Given the description of an element on the screen output the (x, y) to click on. 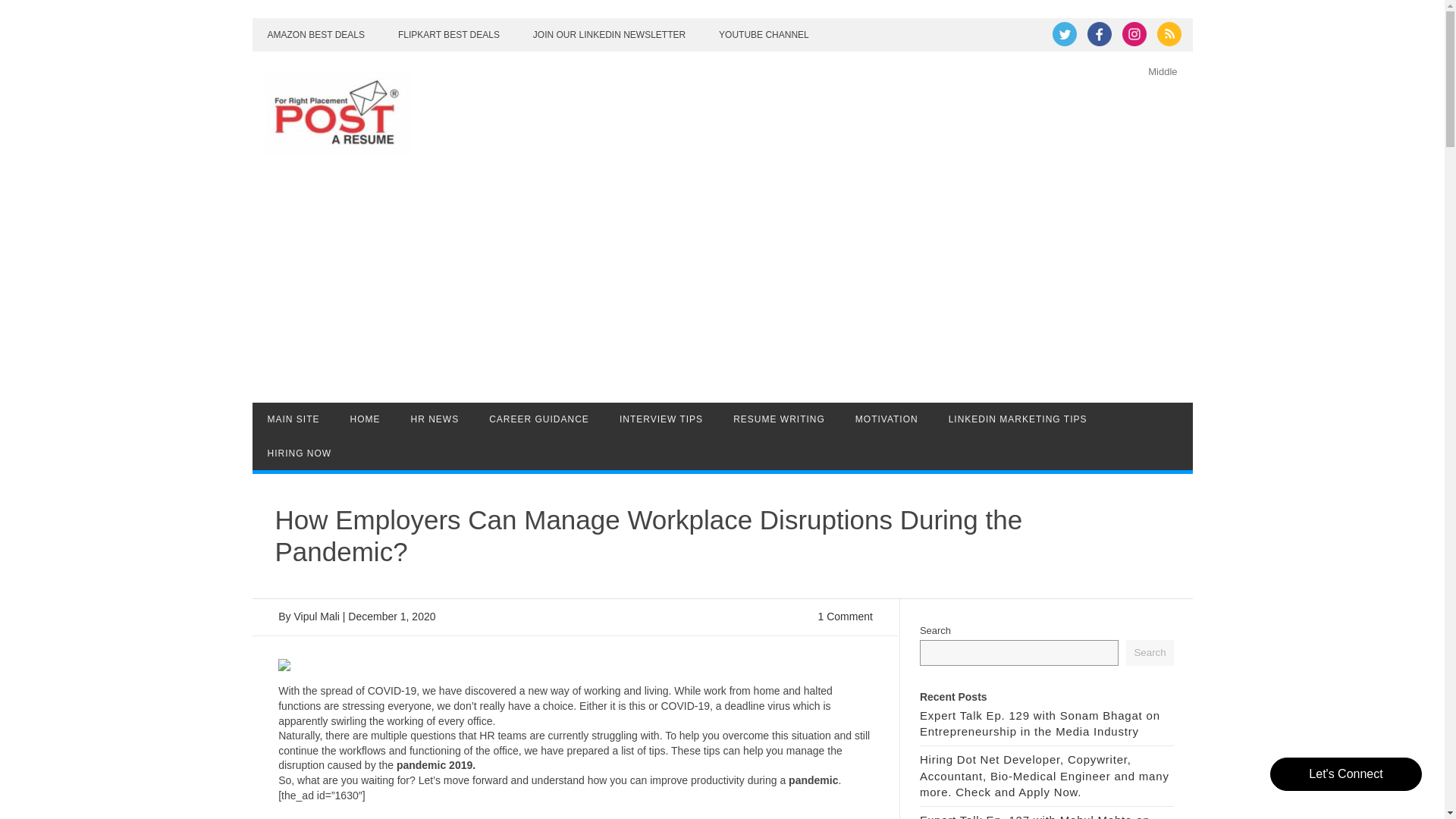
CAREER GUIDANCE (539, 418)
YOUTUBE CHANNEL (763, 34)
FLIPKART BEST DEALS (448, 34)
AMAZON BEST DEALS (314, 34)
MAIN SITE (292, 418)
INTERVIEW TIPS (660, 418)
Posts by Vipul Mali (316, 616)
JOIN OUR LINKEDIN NEWSLETTER (609, 34)
